Given the description of an element on the screen output the (x, y) to click on. 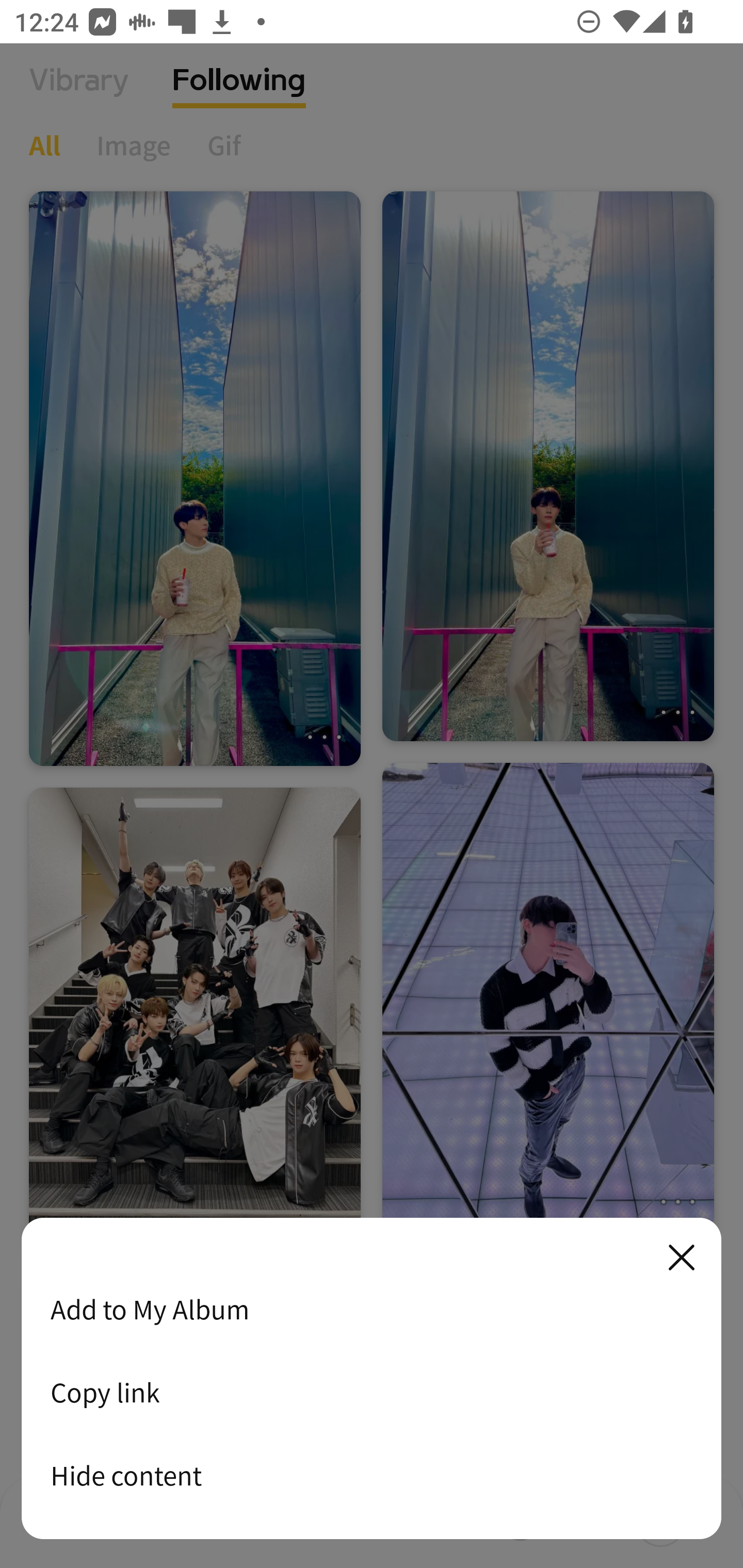
Add to My Album (371, 1308)
Copy link (371, 1391)
Hide content (371, 1474)
